Given the description of an element on the screen output the (x, y) to click on. 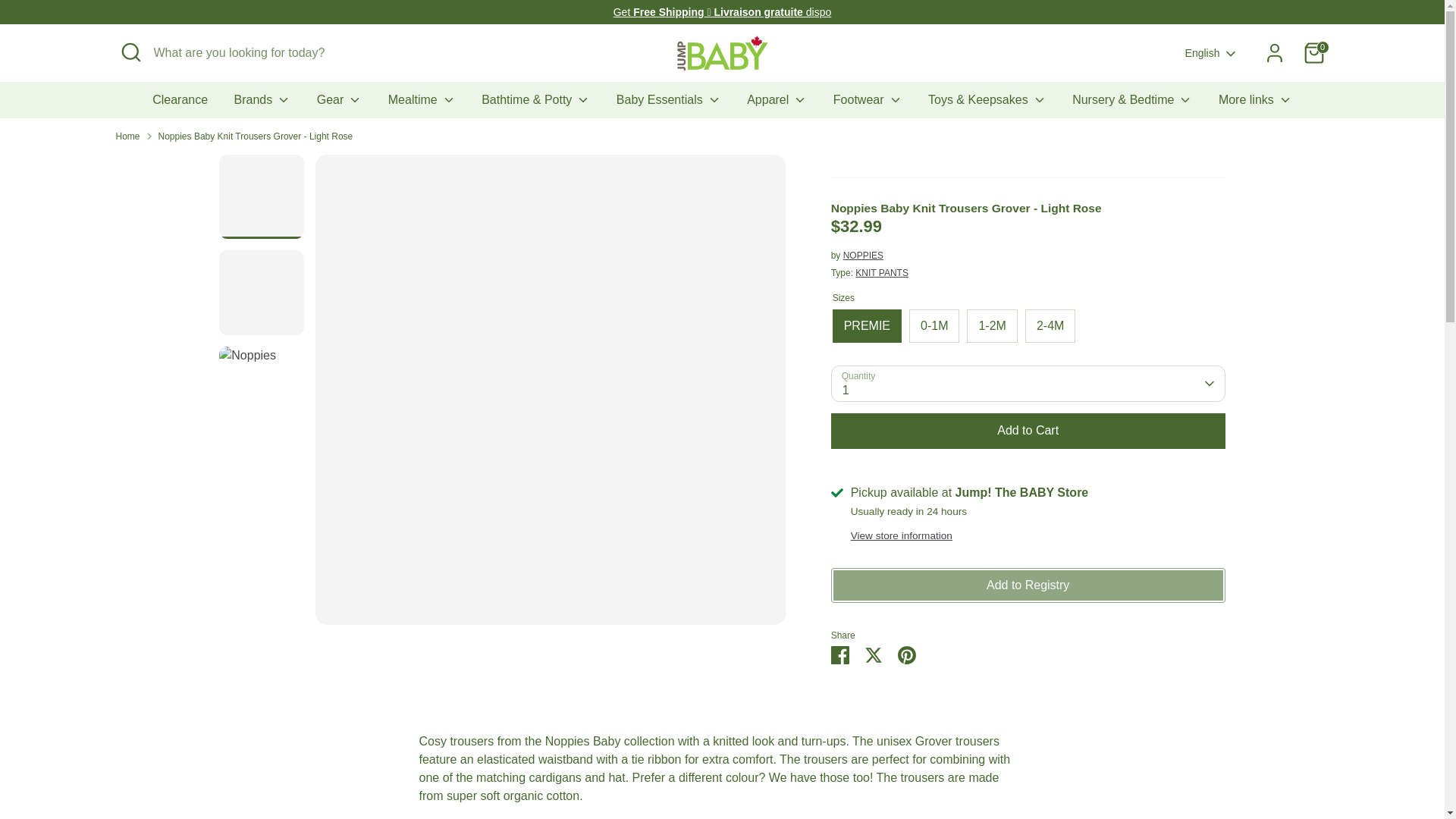
0 (1312, 52)
Shipping Policy (721, 11)
English (1212, 53)
